Given the description of an element on the screen output the (x, y) to click on. 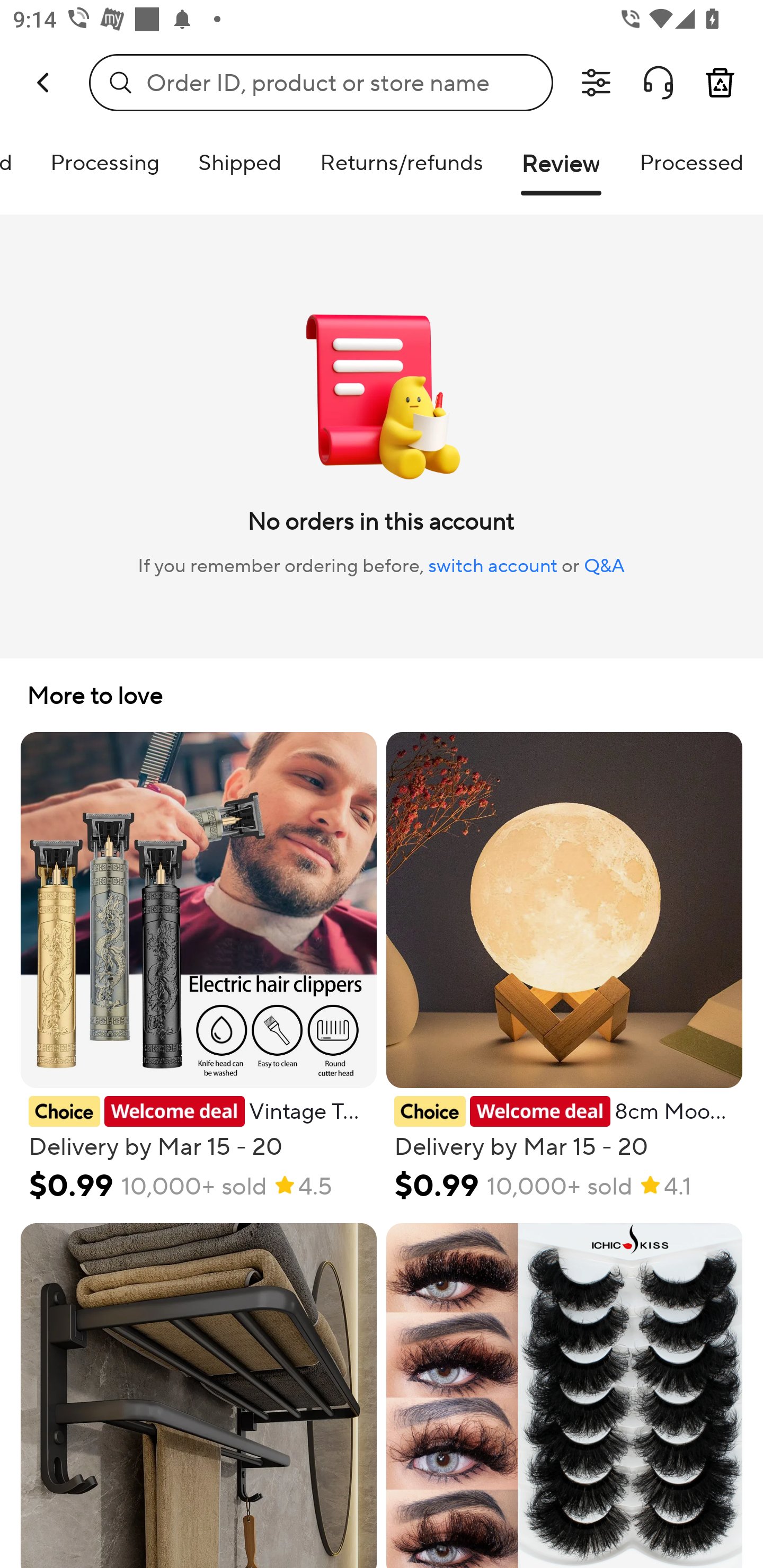
Navigate up (44, 82)
 Order ID, product or store name (321, 82)
 (595, 82)
 (658, 82)
Processing (105, 162)
Shipped (239, 162)
Returns/refunds (401, 162)
Review (561, 170)
Processed (691, 162)
